Given the description of an element on the screen output the (x, y) to click on. 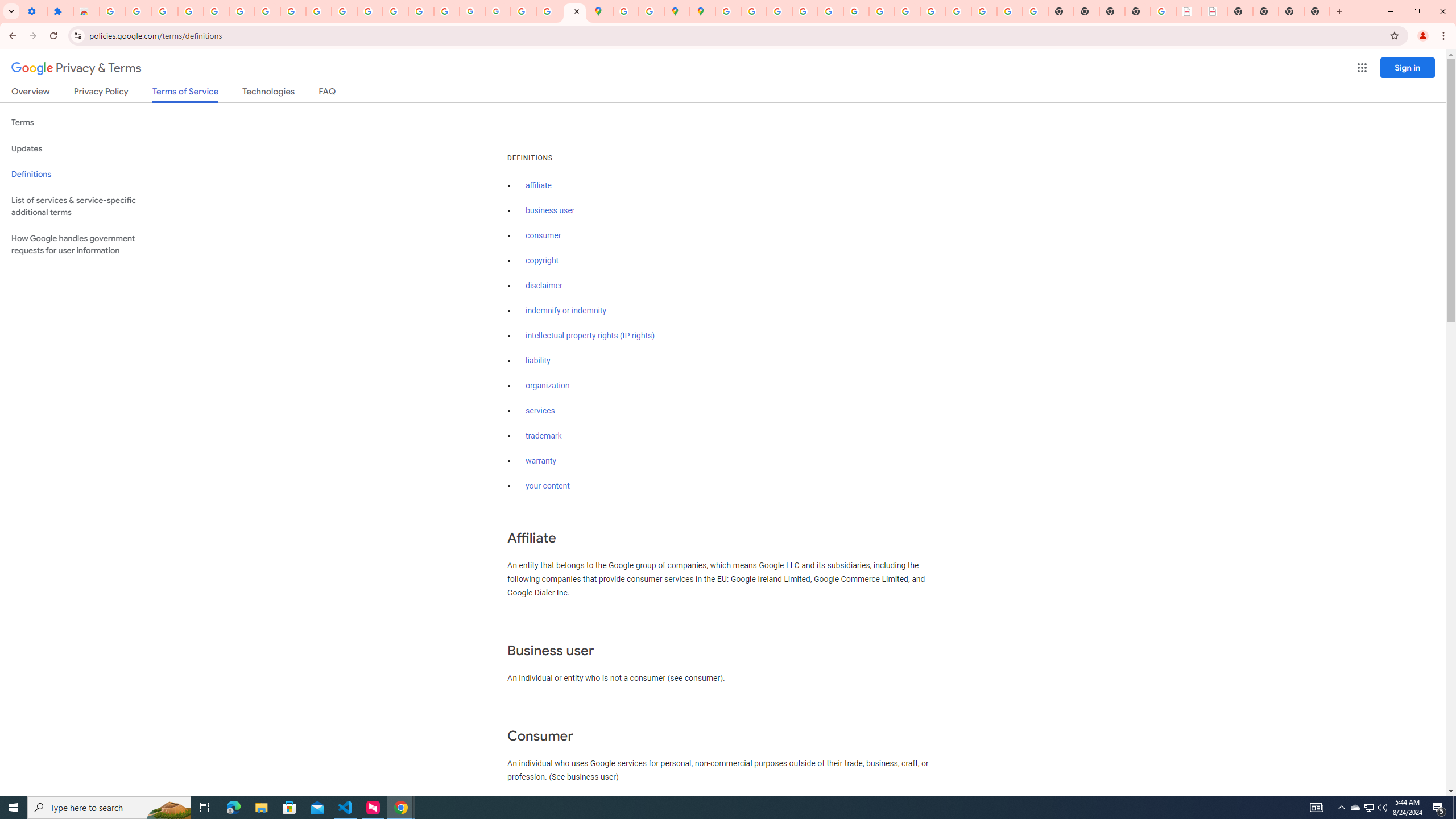
How Google handles government requests for user information (86, 244)
intellectual property rights (IP rights) (590, 335)
https://scholar.google.com/ (369, 11)
consumer (543, 235)
